Given the description of an element on the screen output the (x, y) to click on. 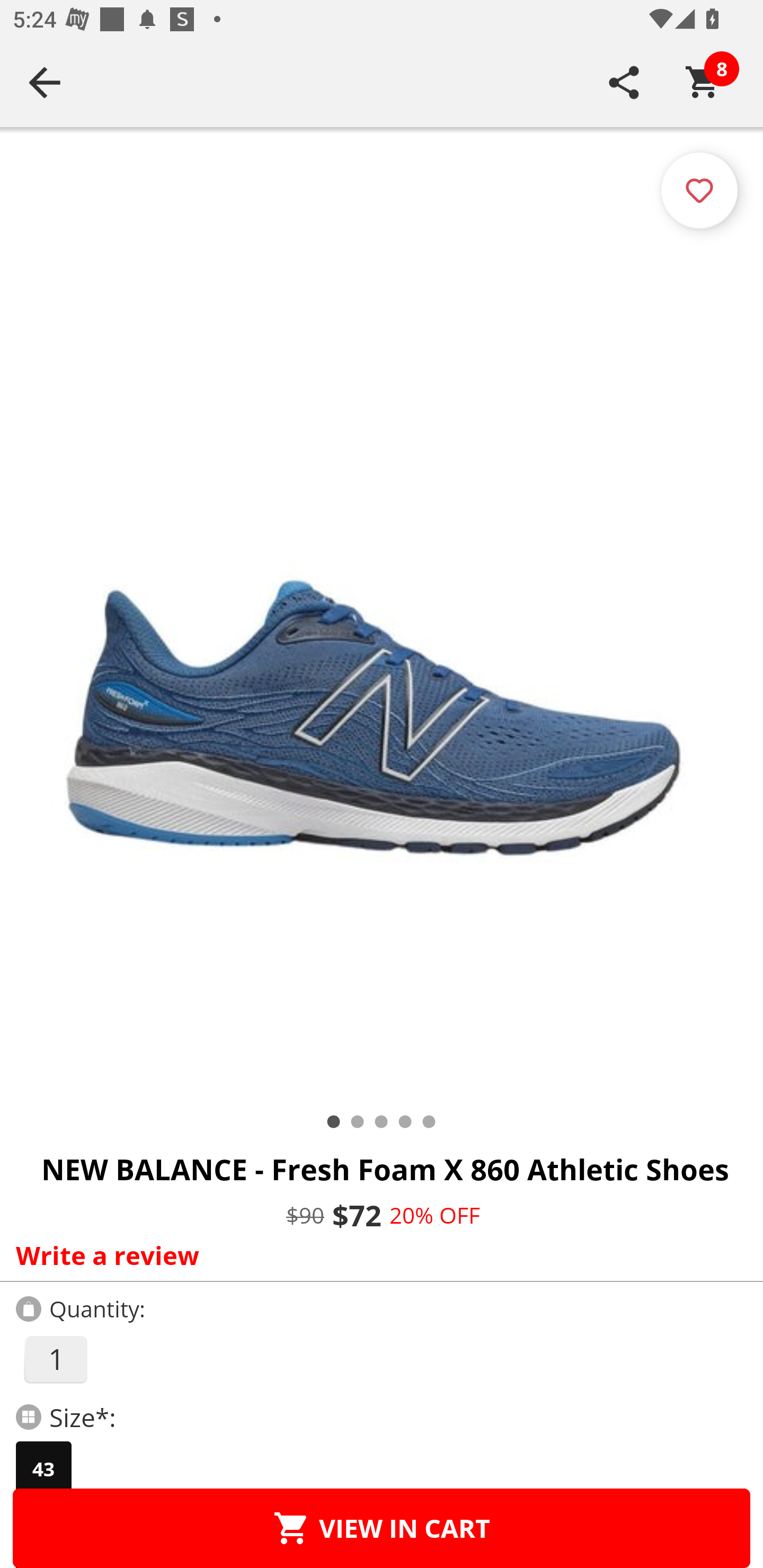
Navigate up (44, 82)
SHARE (623, 82)
Cart (703, 81)
Write a review (377, 1255)
1 (55, 1358)
43 (43, 1468)
VIEW IN CART (381, 1528)
